Given the description of an element on the screen output the (x, y) to click on. 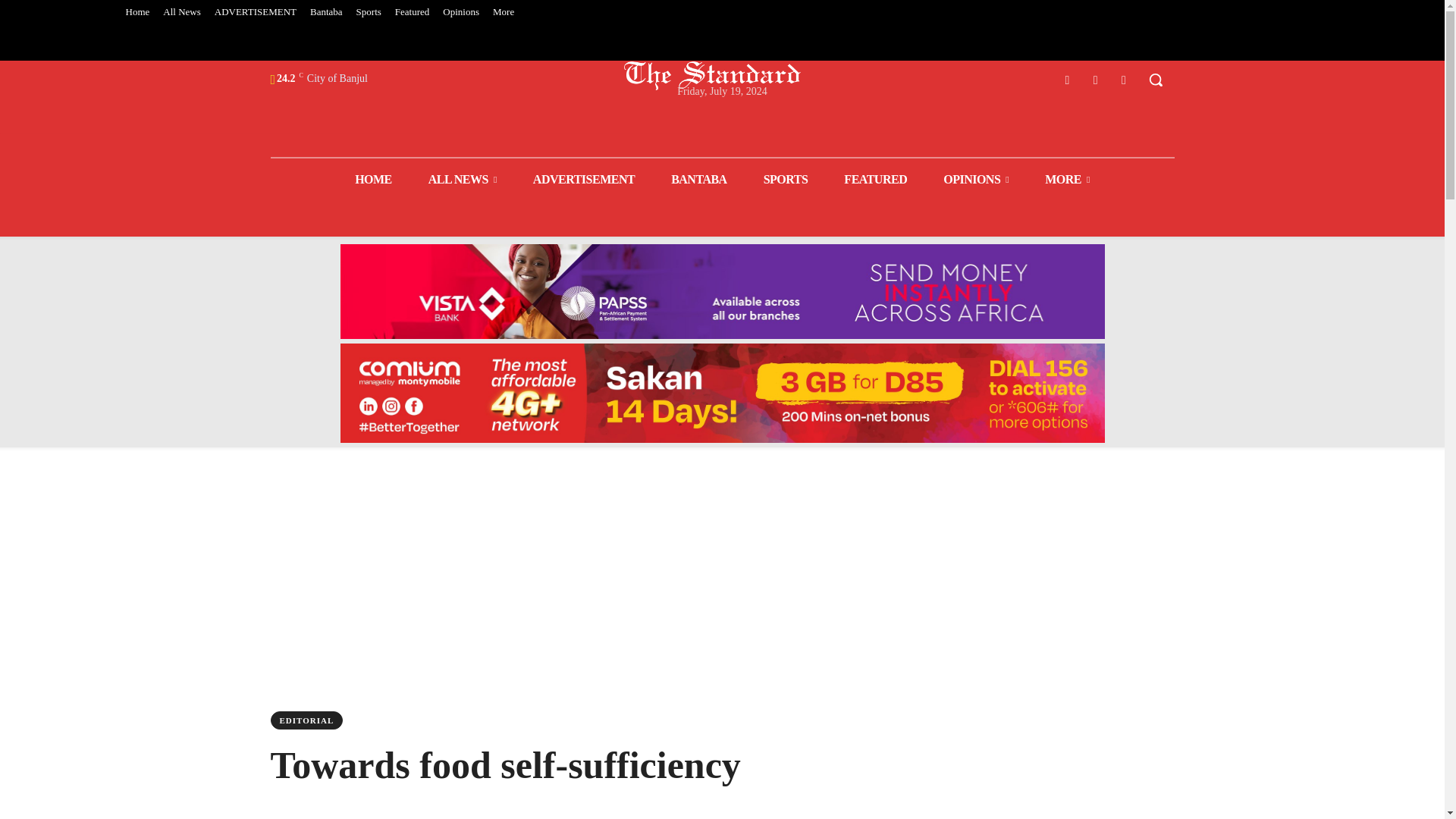
Featured (411, 12)
Sports (368, 12)
Facebook (1067, 79)
ALL NEWS (462, 178)
All News (180, 12)
Twitter (1094, 79)
HOME (373, 178)
Bantaba (325, 12)
Youtube (1123, 79)
ADVERTISEMENT (255, 12)
Opinions (460, 12)
More (503, 12)
Home (136, 12)
